Given the description of an element on the screen output the (x, y) to click on. 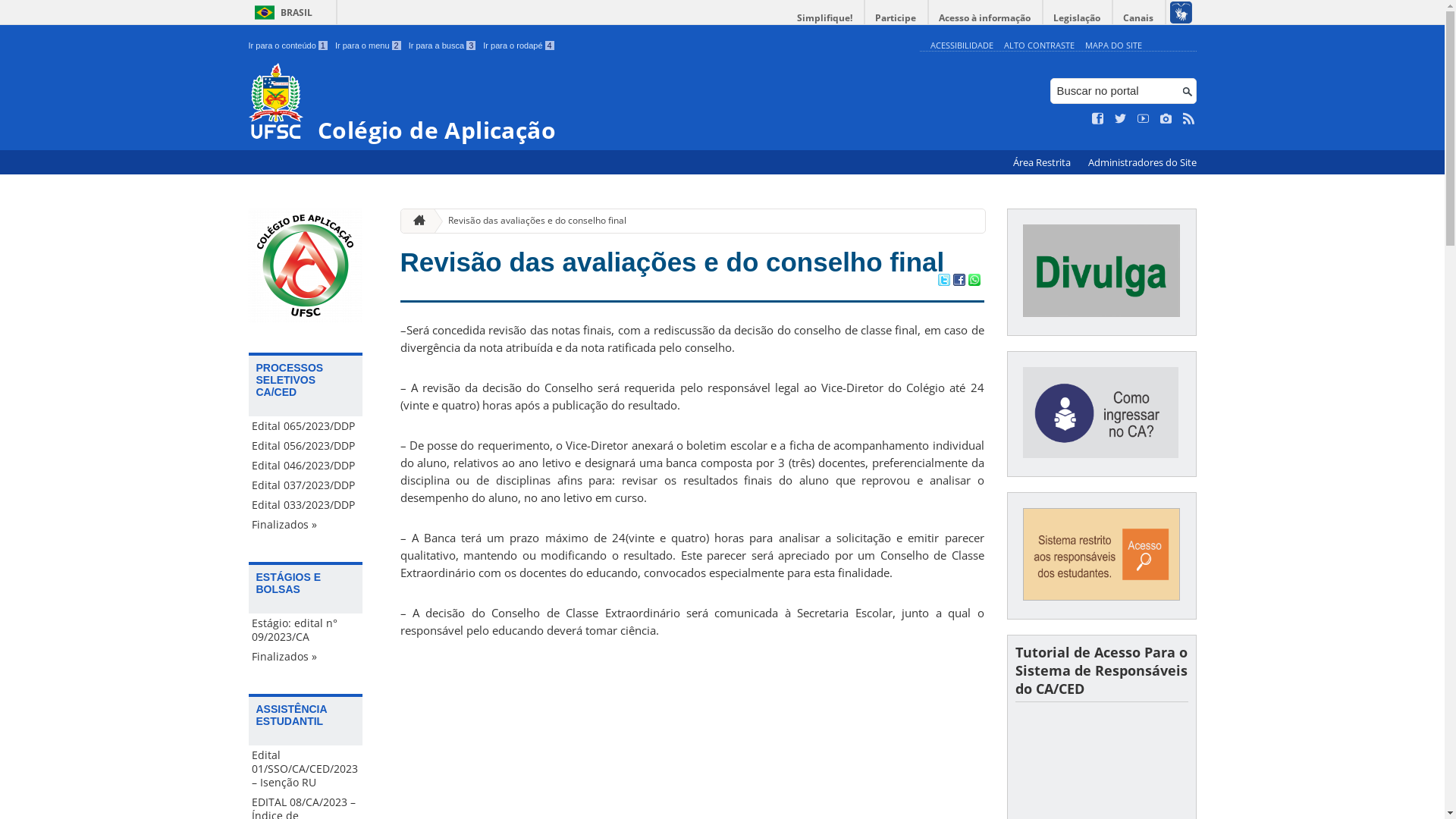
Veja no Instagram Element type: hover (1166, 118)
Edital 033/2023/DDP Element type: text (305, 504)
Curta no Facebook Element type: hover (1098, 118)
Edital 046/2023/DDP Element type: text (305, 465)
Edital 056/2023/DDP Element type: text (305, 445)
Siga no Twitter Element type: hover (1120, 118)
Ir para o menu 2 Element type: text (368, 45)
Simplifique! Element type: text (825, 18)
Edital 065/2023/DDP Element type: text (305, 426)
Compartilhar no Twitter Element type: hover (943, 280)
ACESSIBILIDADE Element type: text (960, 44)
Compartilhar no WhatsApp Element type: hover (973, 280)
ALTO CONTRASTE Element type: text (1039, 44)
Edital 037/2023/DDP Element type: text (305, 485)
Participe Element type: text (895, 18)
Administradores do Site Element type: text (1141, 162)
BRASIL Element type: text (280, 12)
MAPA DO SITE Element type: text (1112, 44)
Ir para a busca 3 Element type: text (442, 45)
Compartilhar no Facebook Element type: hover (958, 280)
Canais Element type: text (1138, 18)
